Given the description of an element on the screen output the (x, y) to click on. 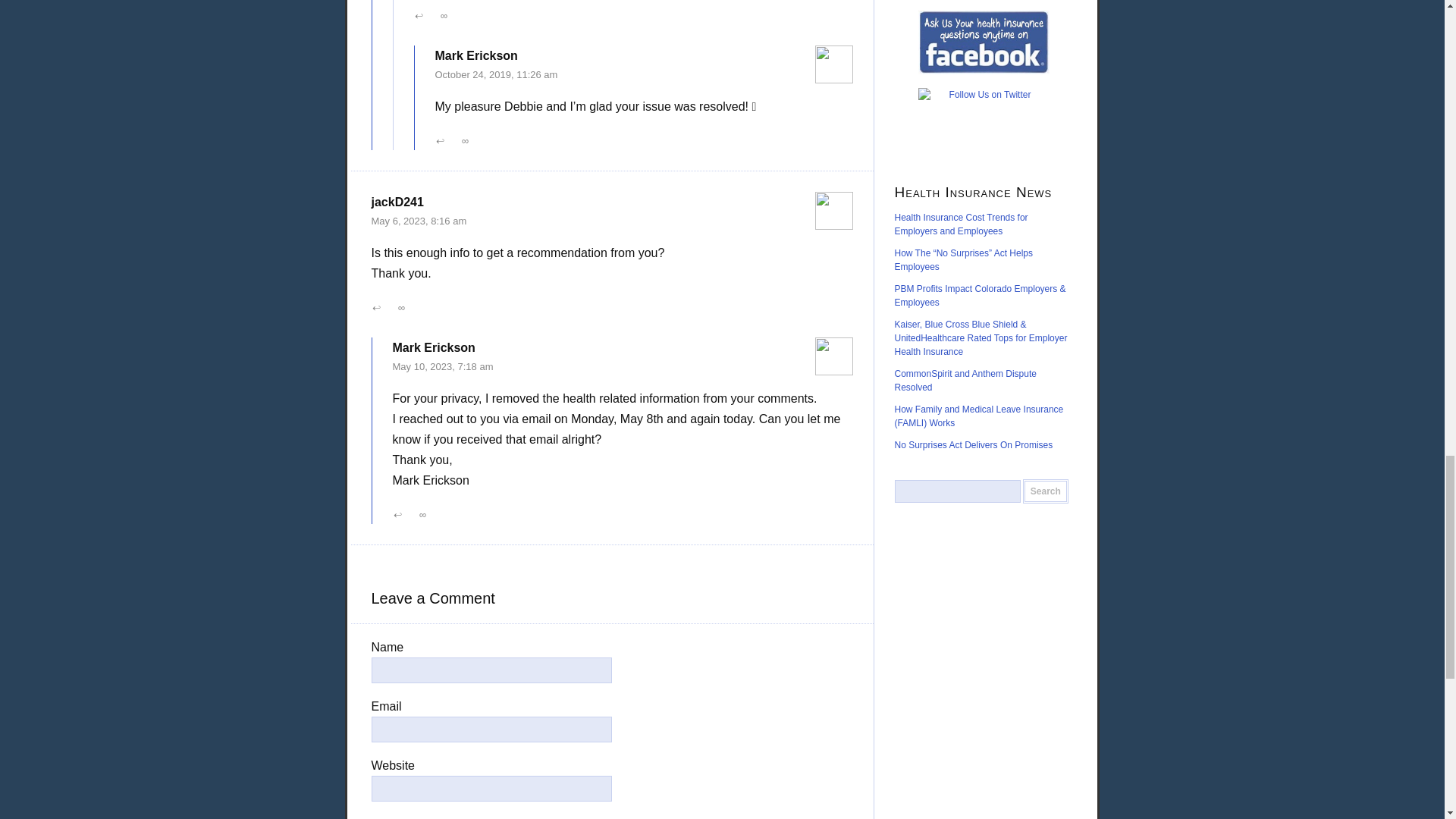
Follow Us on Twitter (983, 120)
Like Us on Facebook (983, 42)
Search (1045, 491)
